Given the description of an element on the screen output the (x, y) to click on. 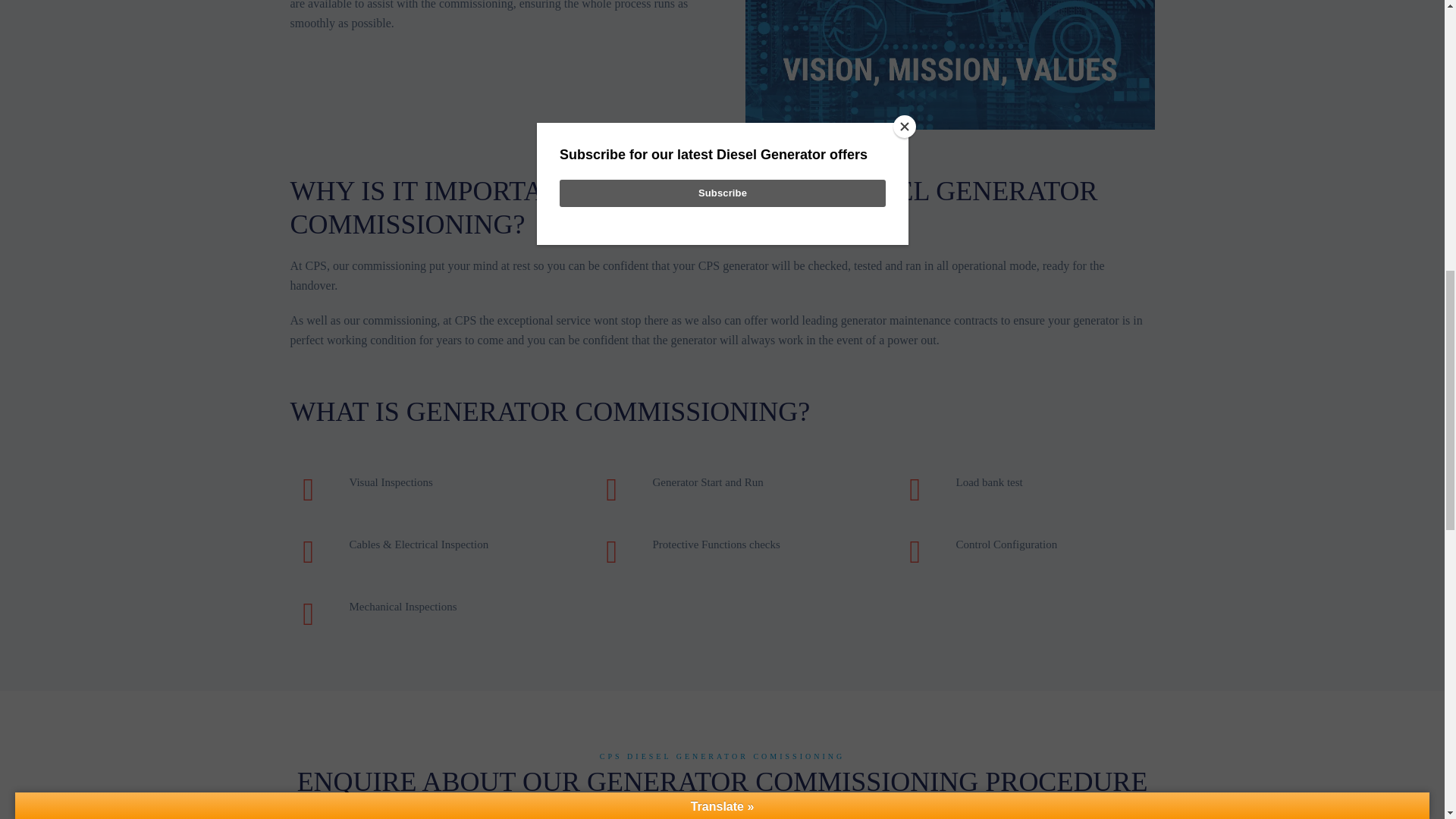
ISO9001 Vision Mission Values (949, 64)
